Given the description of an element on the screen output the (x, y) to click on. 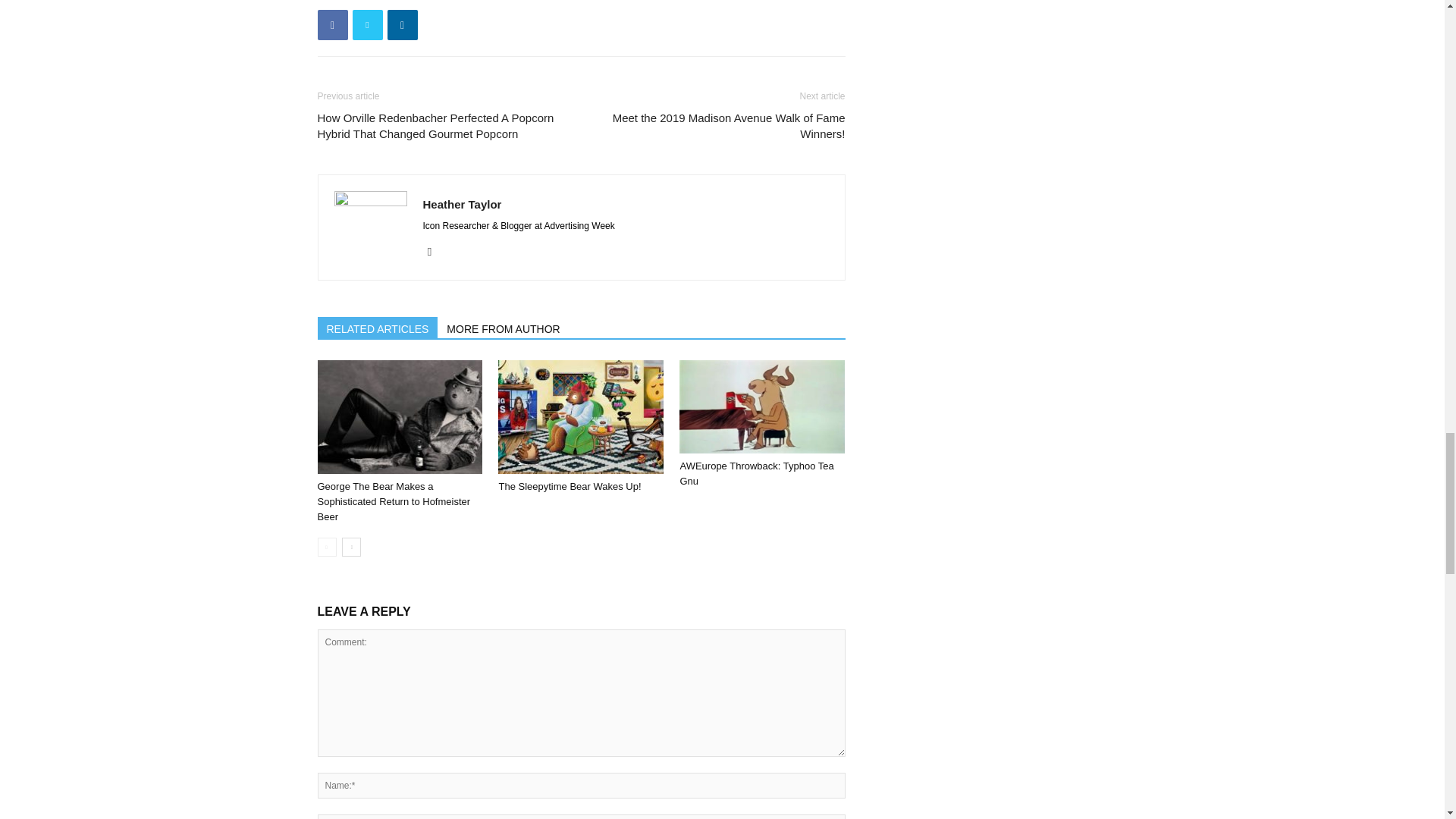
Twitter (435, 251)
AWEurope Throwback: Typhoo Tea Gnu (761, 406)
The Sleepytime Bear Wakes Up! (580, 417)
The Sleepytime Bear Wakes Up! (568, 486)
